Given the description of an element on the screen output the (x, y) to click on. 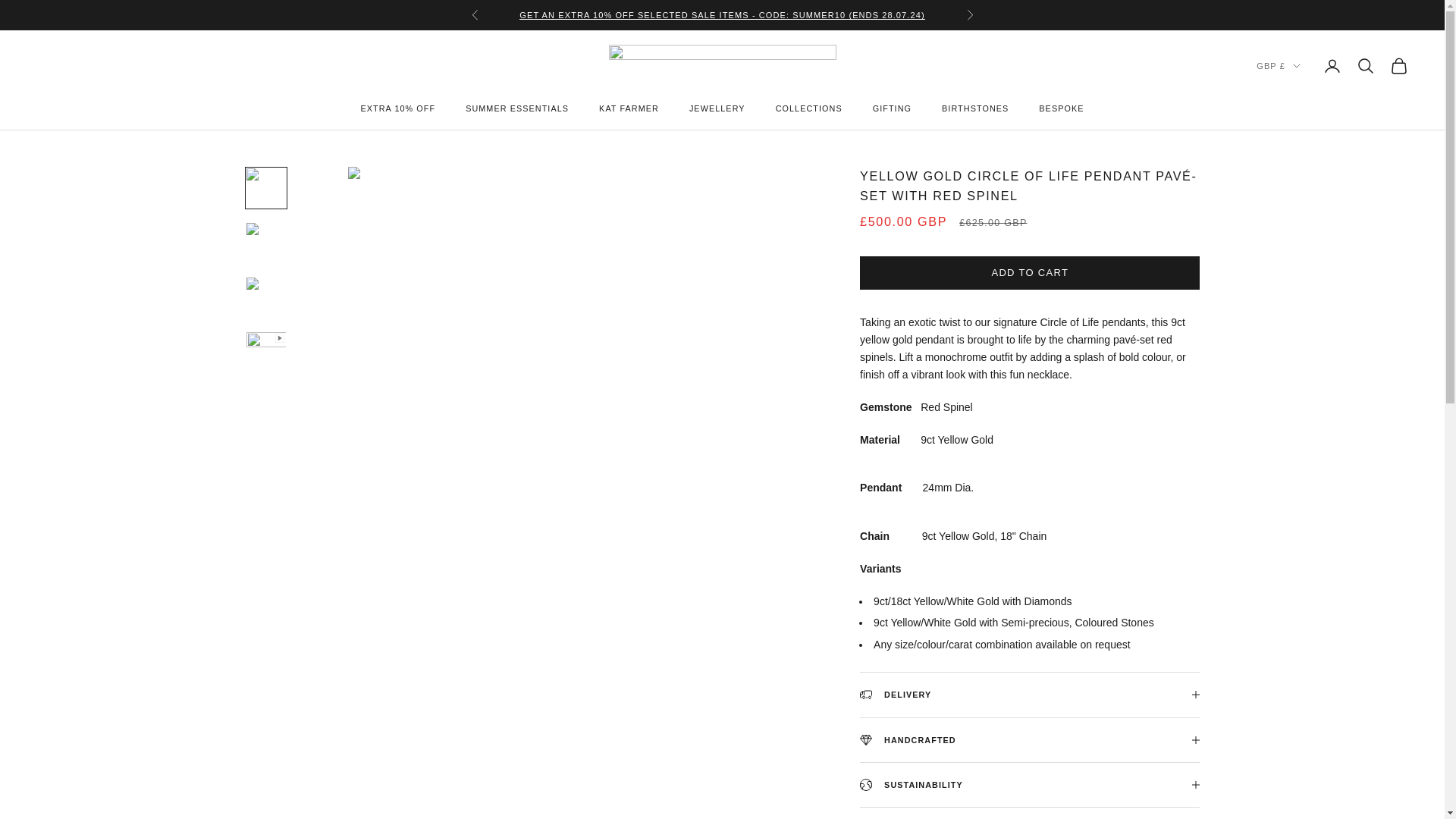
SUMMER ESSENTIALS (517, 108)
KAT FARMER (628, 108)
Louise Sinclair (721, 65)
